Given the description of an element on the screen output the (x, y) to click on. 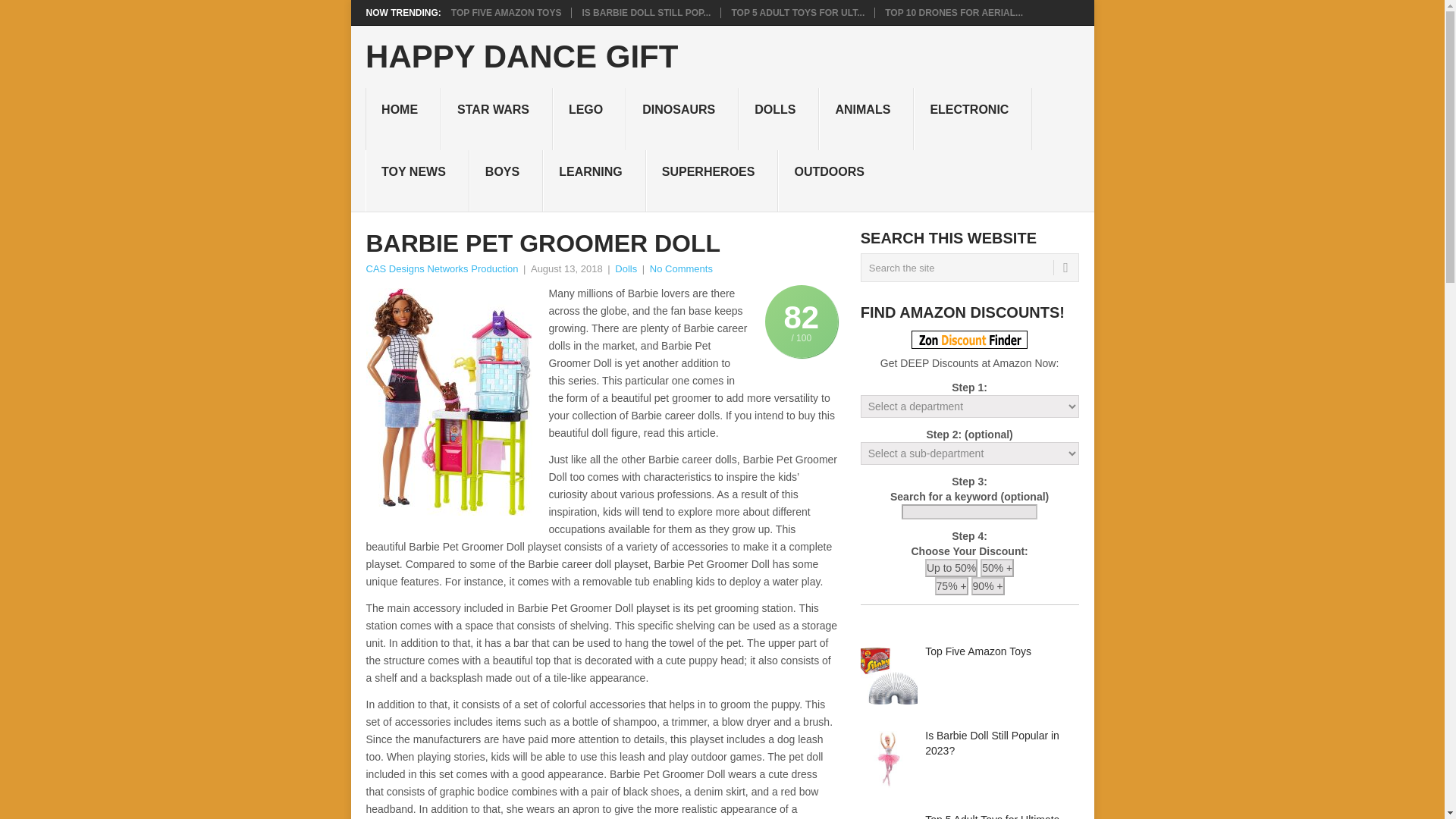
TOP 10 DRONES FOR AERIAL... (954, 12)
LEARNING (594, 180)
HAPPY DANCE GIFT (521, 56)
LEGO (589, 118)
Search the site (969, 267)
HOME (403, 118)
Posts by CAS Designs Networks Production (441, 268)
SUPERHEROES (712, 180)
TOP FIVE AMAZON TOYS (506, 12)
DINOSAURS (682, 118)
